Given the description of an element on the screen output the (x, y) to click on. 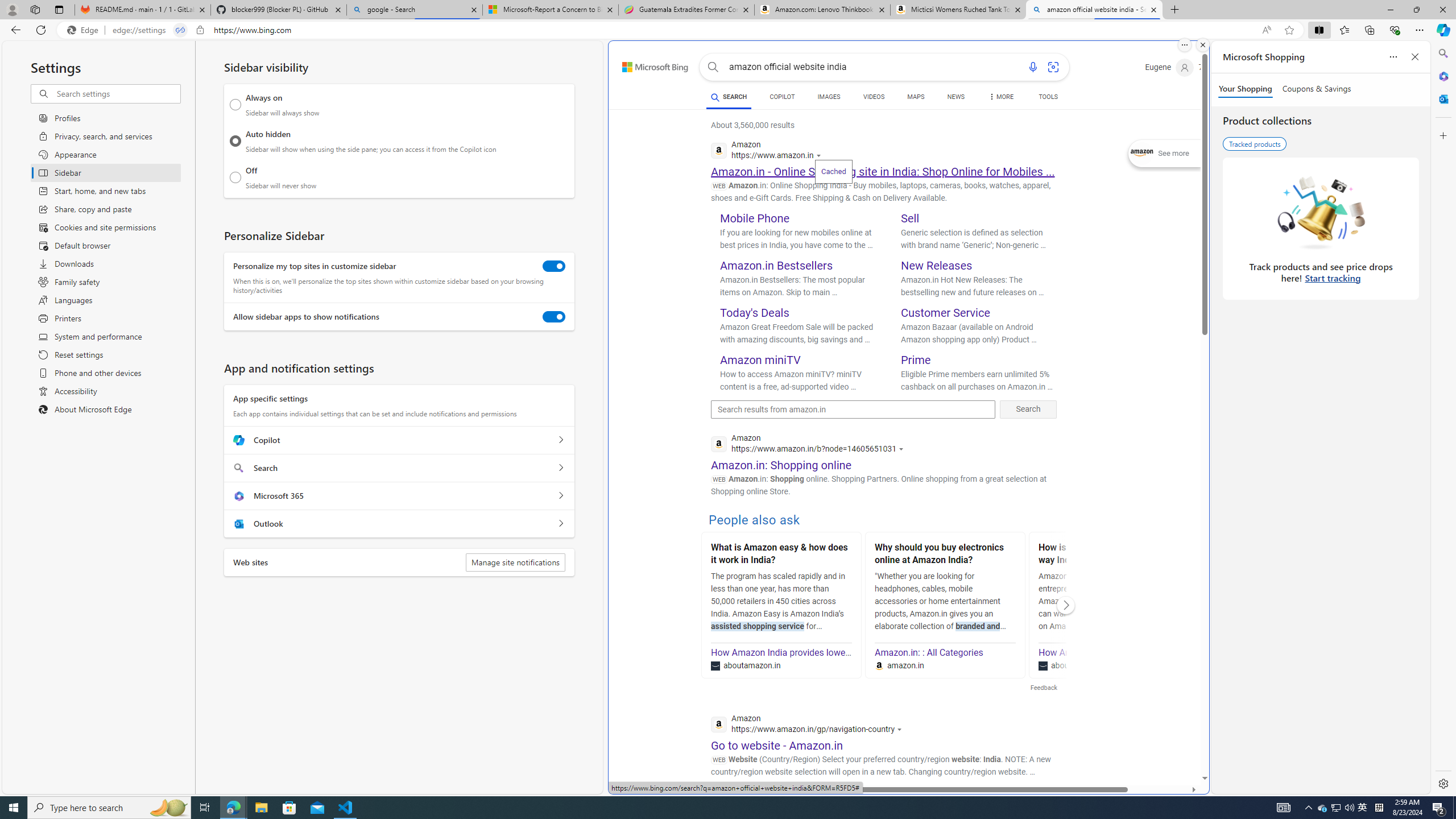
NEWS (955, 96)
Allow sidebar apps to show notifications (553, 316)
Amazon.in: : All Categories (928, 652)
Feedback (1043, 687)
New Tab (1174, 9)
MORE (1000, 98)
Settings and more (Alt+F) (1419, 29)
IMAGES (828, 98)
VIDEOS (873, 98)
App bar (728, 29)
View site information (200, 29)
Actions for this site (900, 729)
MAPS (915, 98)
